Given the description of an element on the screen output the (x, y) to click on. 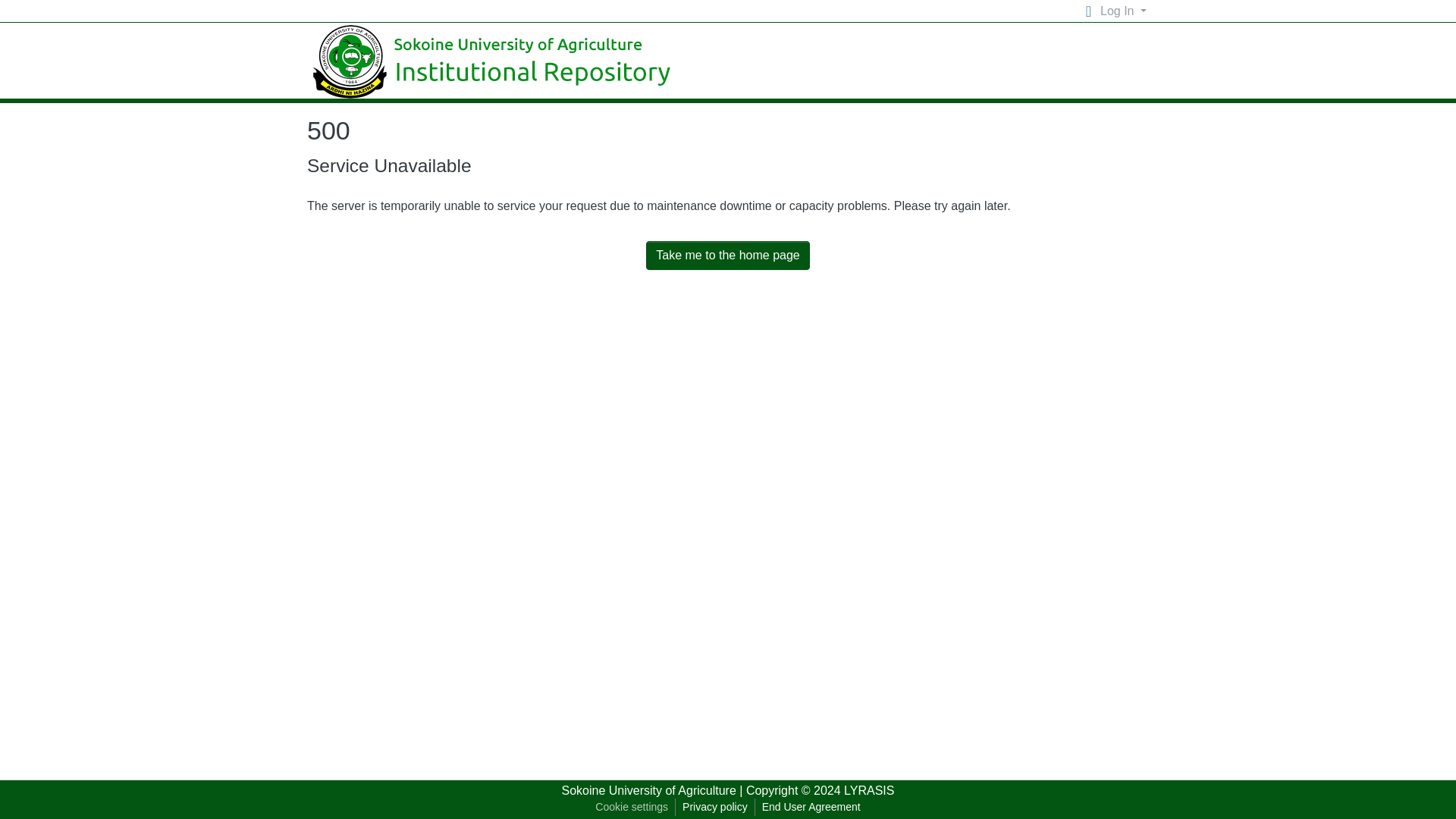
Log In (1122, 12)
Cookie settings (631, 806)
End User Agreement (811, 806)
Take me to the home page (727, 255)
Language switch (1087, 11)
LYRASIS (868, 789)
Privacy policy (714, 806)
